Given the description of an element on the screen output the (x, y) to click on. 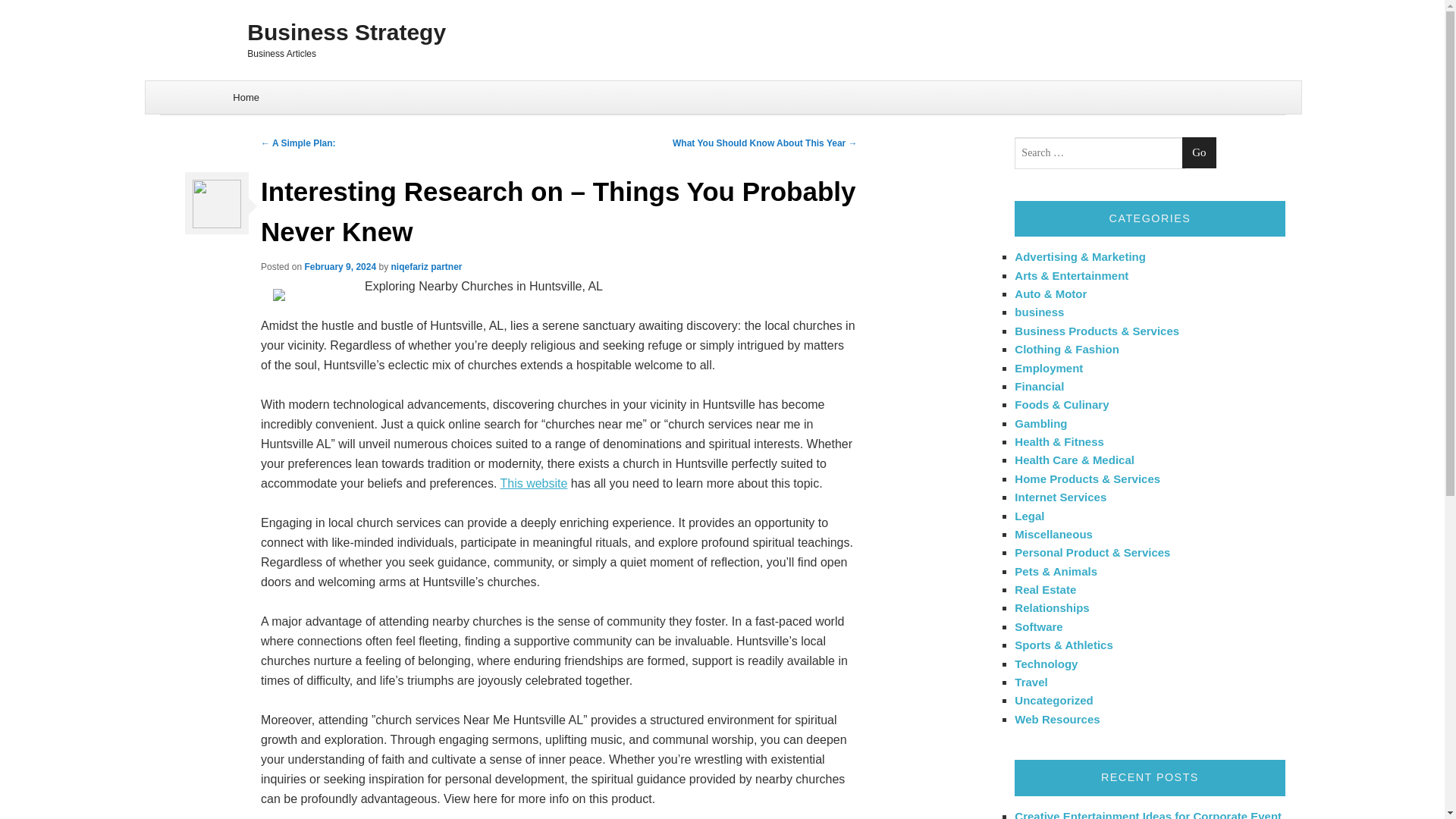
Business Strategy (721, 31)
Home (246, 97)
This website (533, 482)
niqefariz partner (427, 266)
Internet Services (1060, 496)
Financial (1039, 386)
February 9, 2024 (339, 266)
Employment (1048, 367)
Software (1038, 626)
Miscellaneous (1053, 533)
